Given the description of an element on the screen output the (x, y) to click on. 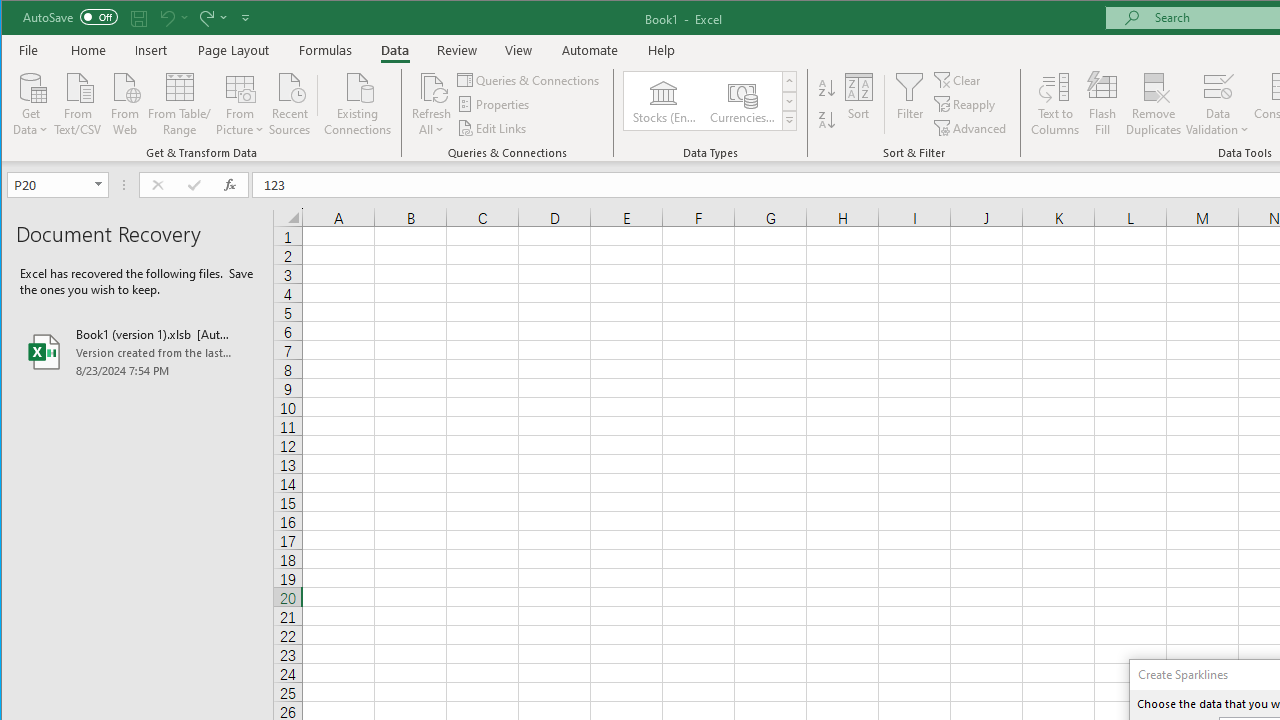
Advanced... (971, 127)
Data Types (789, 120)
Sort... (859, 104)
Reapply (966, 103)
From Table/Range (179, 101)
Filter (909, 104)
Stocks (English) (663, 100)
